Given the description of an element on the screen output the (x, y) to click on. 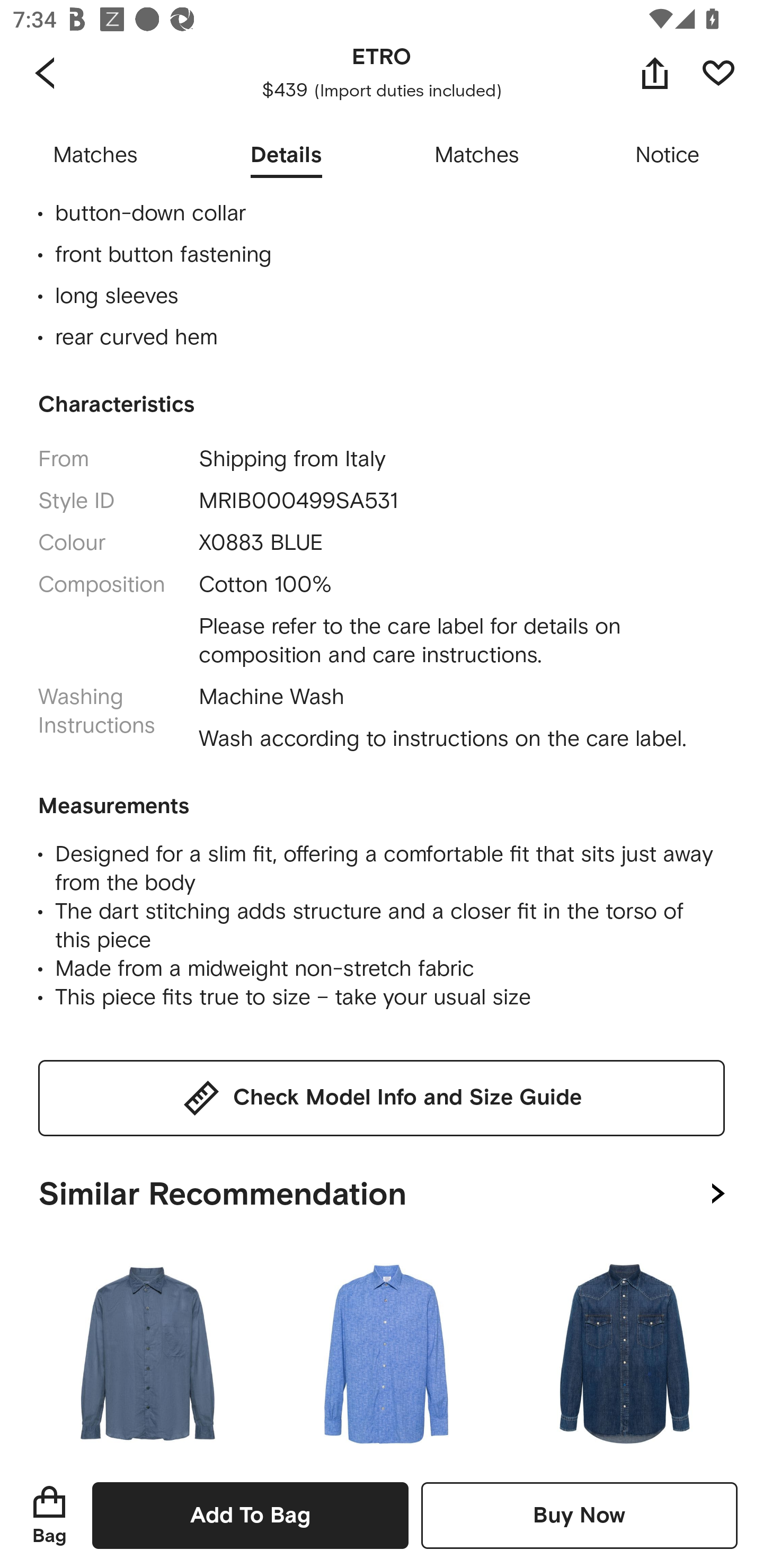
Matches (95, 155)
Matches (476, 155)
Notice (667, 155)
 Check Model Info and Size Guide (381, 1097)
Similar Recommendation (381, 1190)
Bag (49, 1515)
Add To Bag (250, 1515)
Buy Now (579, 1515)
